Given the description of an element on the screen output the (x, y) to click on. 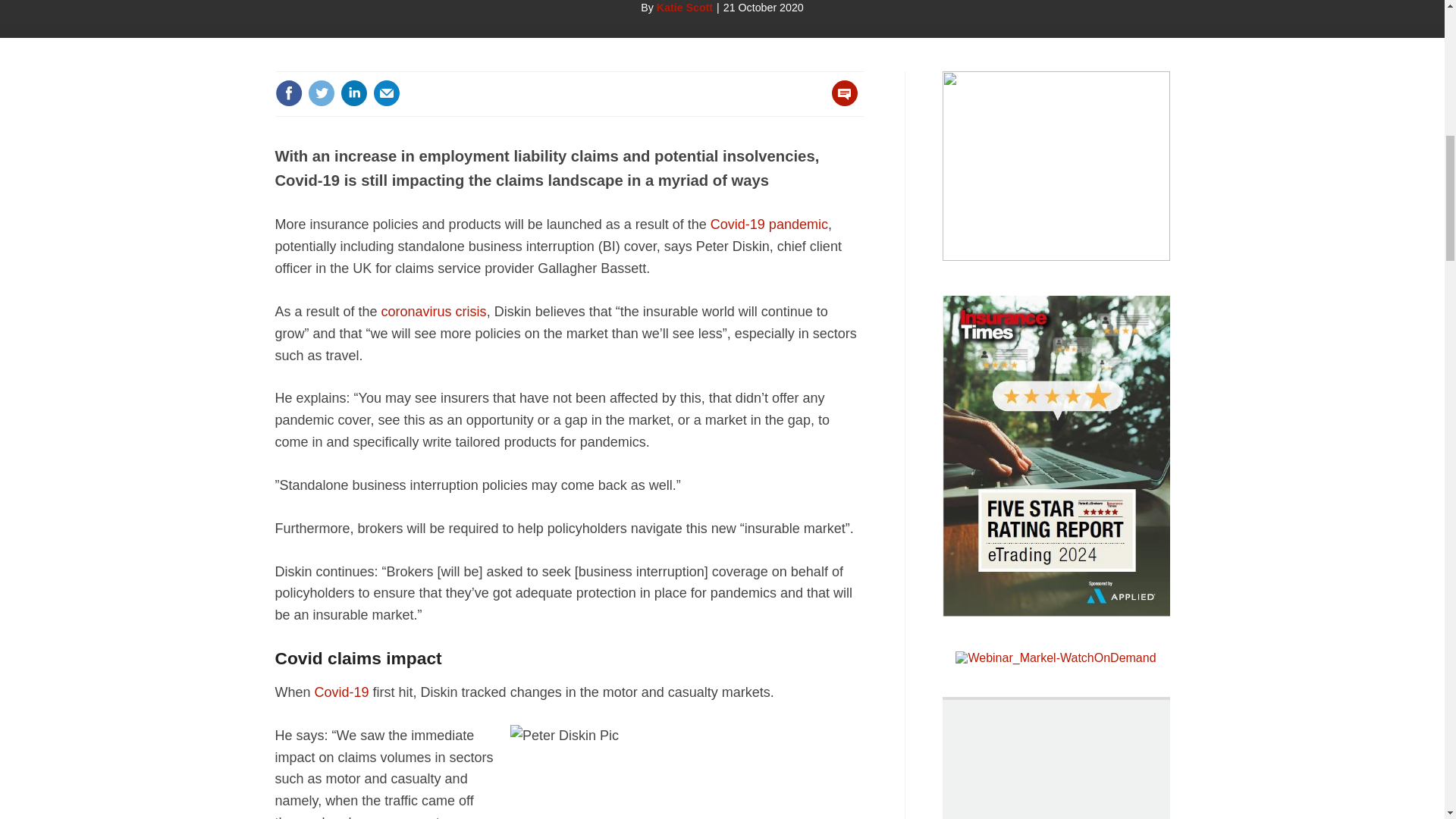
Share this on Facebook (288, 93)
No comments (840, 102)
Share this on Twitter (320, 93)
Share this on Linked in (352, 93)
Email this article (386, 93)
